Given the description of an element on the screen output the (x, y) to click on. 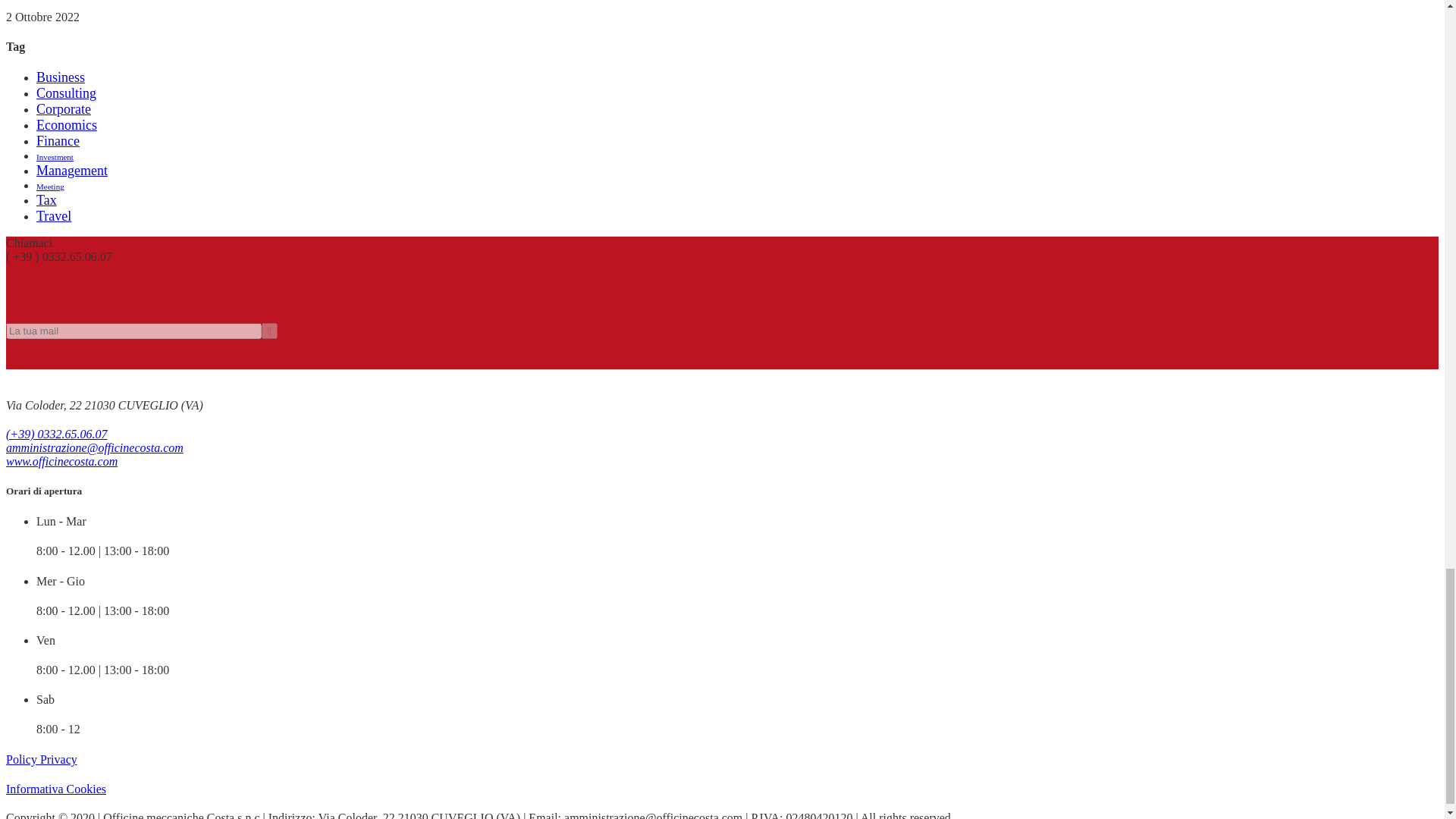
Finance (58, 140)
Economics (66, 124)
Investment (55, 156)
Consulting (66, 92)
Corporate (63, 109)
Management (71, 170)
Business (60, 77)
